Given the description of an element on the screen output the (x, y) to click on. 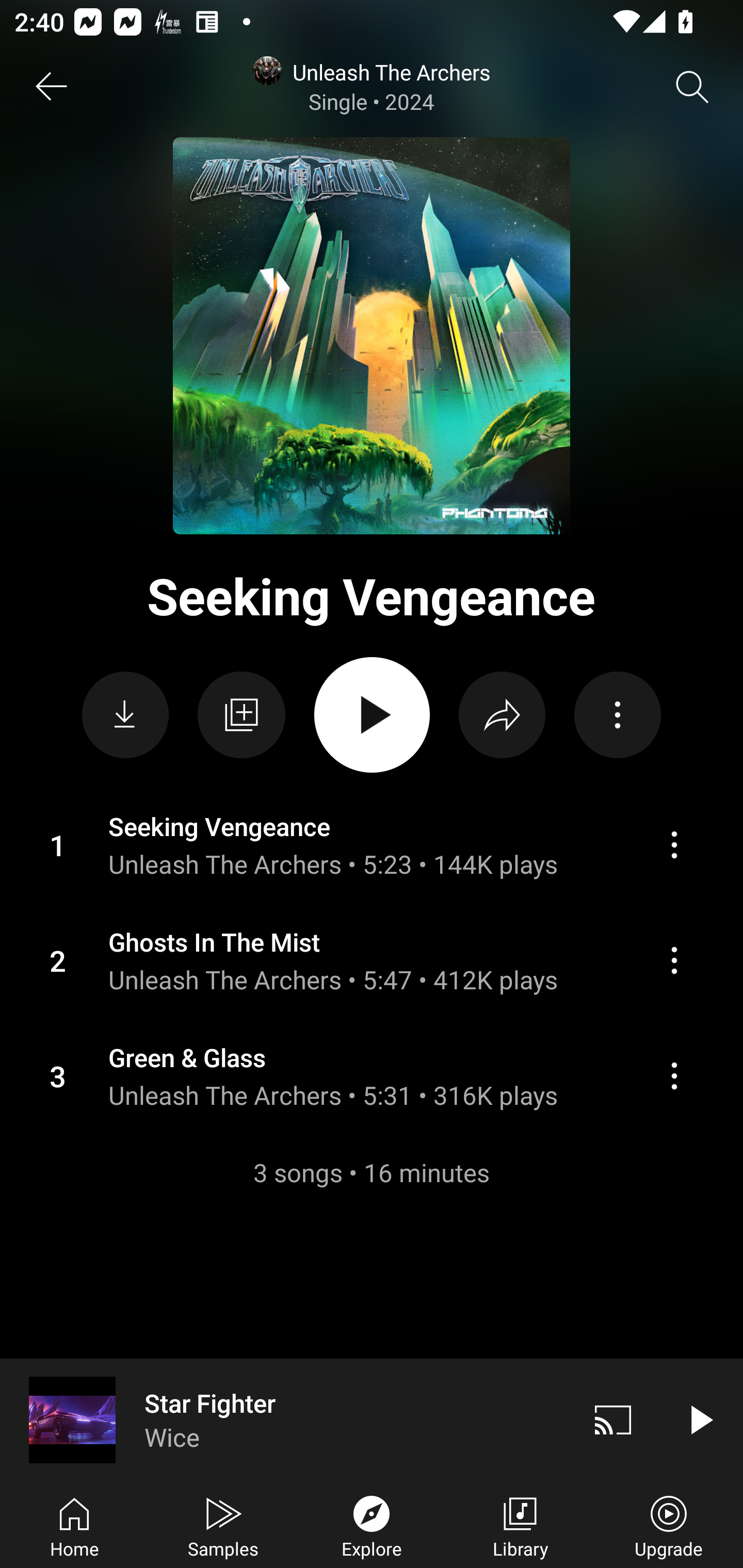
Back (50, 86)
Search (692, 86)
PLAY ALL (371, 714)
Download (125, 714)
Share (501, 714)
Action menu (617, 714)
Save to library (241, 714)
Action menu (371, 845)
Action menu (673, 844)
Action menu (371, 960)
Action menu (673, 960)
Action menu (371, 1075)
Action menu (673, 1076)
Star Fighter Wice (284, 1419)
Cast. Disconnected (612, 1419)
Play video (699, 1419)
Home (74, 1524)
Samples (222, 1524)
Library (519, 1524)
Upgrade (668, 1524)
